Given the description of an element on the screen output the (x, y) to click on. 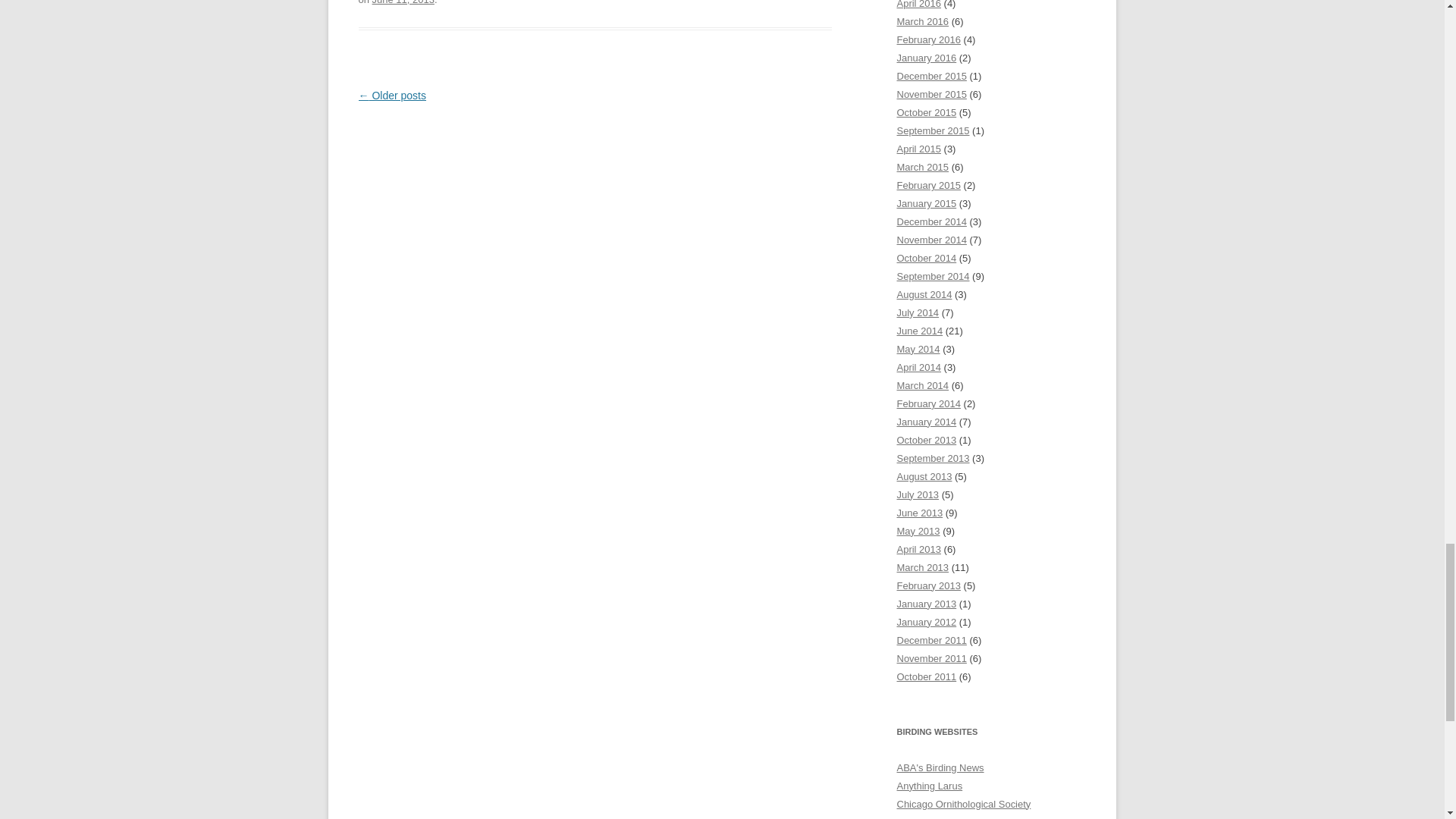
9:12 am (402, 2)
